Given the description of an element on the screen output the (x, y) to click on. 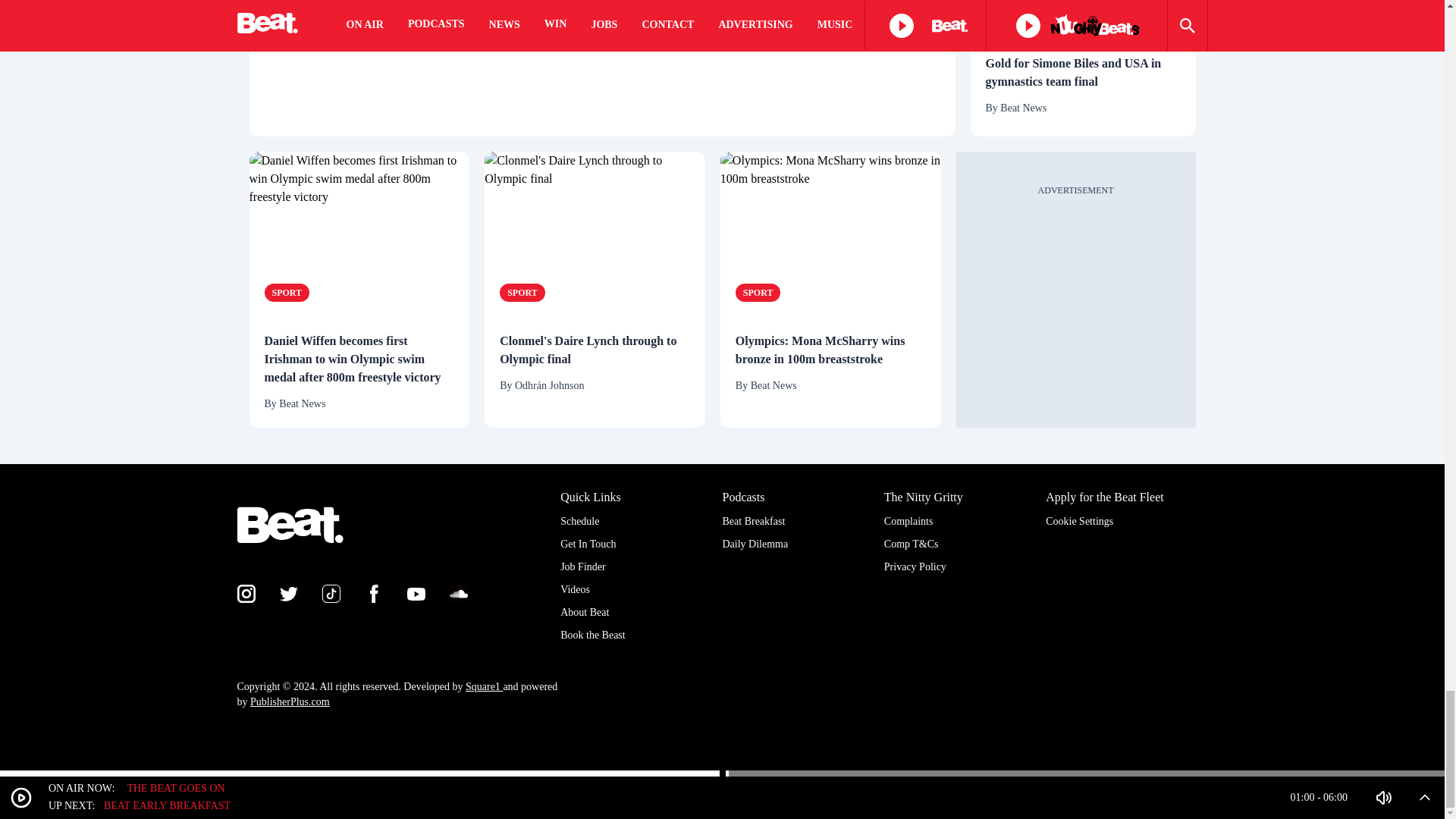
Gaelic games are coming to the Paris Olympics (425, 68)
Gaelic games are coming to the Paris Olympics (778, 15)
Gold for Simone Biles and USA in gymnastics team final (1082, 72)
Sport (285, 292)
Sport (1007, 14)
